Given the description of an element on the screen output the (x, y) to click on. 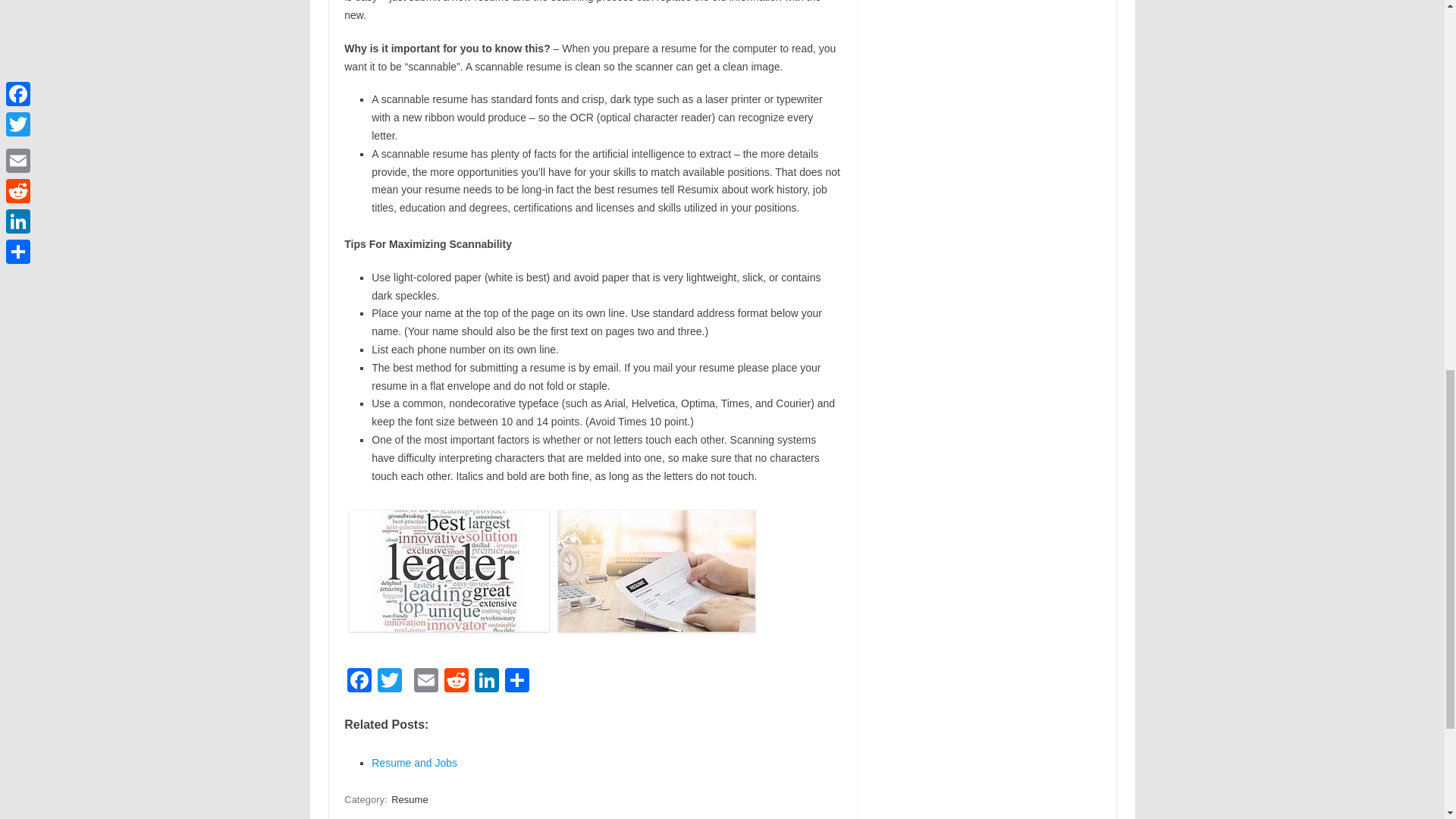
Email (425, 682)
Resume and Jobs (414, 762)
Twitter (389, 682)
Facebook (358, 682)
Facebook (358, 682)
Reddit (456, 682)
Twitter (389, 682)
Email (425, 682)
Resume (409, 799)
LinkedIn (486, 682)
